Given the description of an element on the screen output the (x, y) to click on. 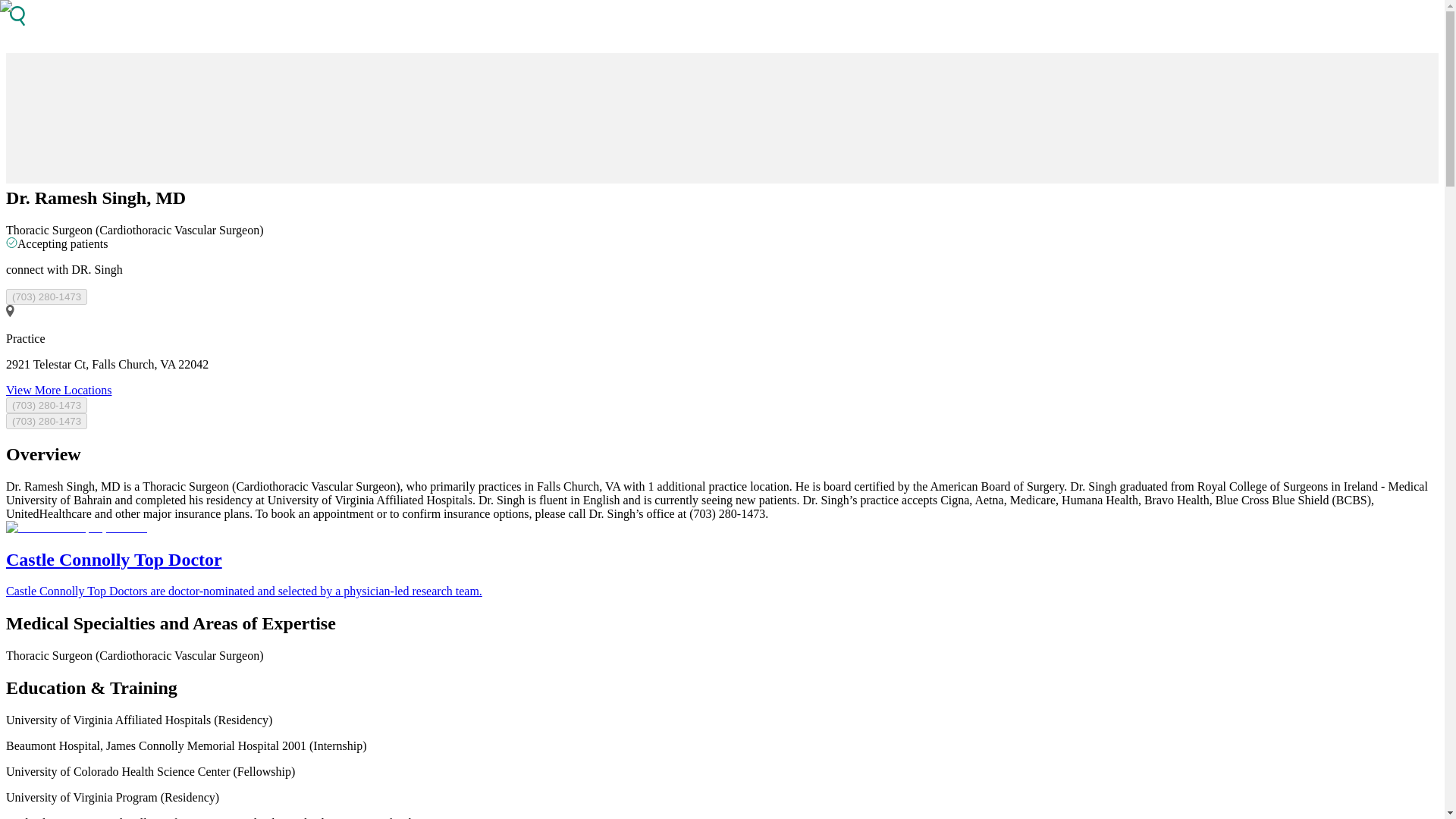
View More Locations (58, 390)
